Given the description of an element on the screen output the (x, y) to click on. 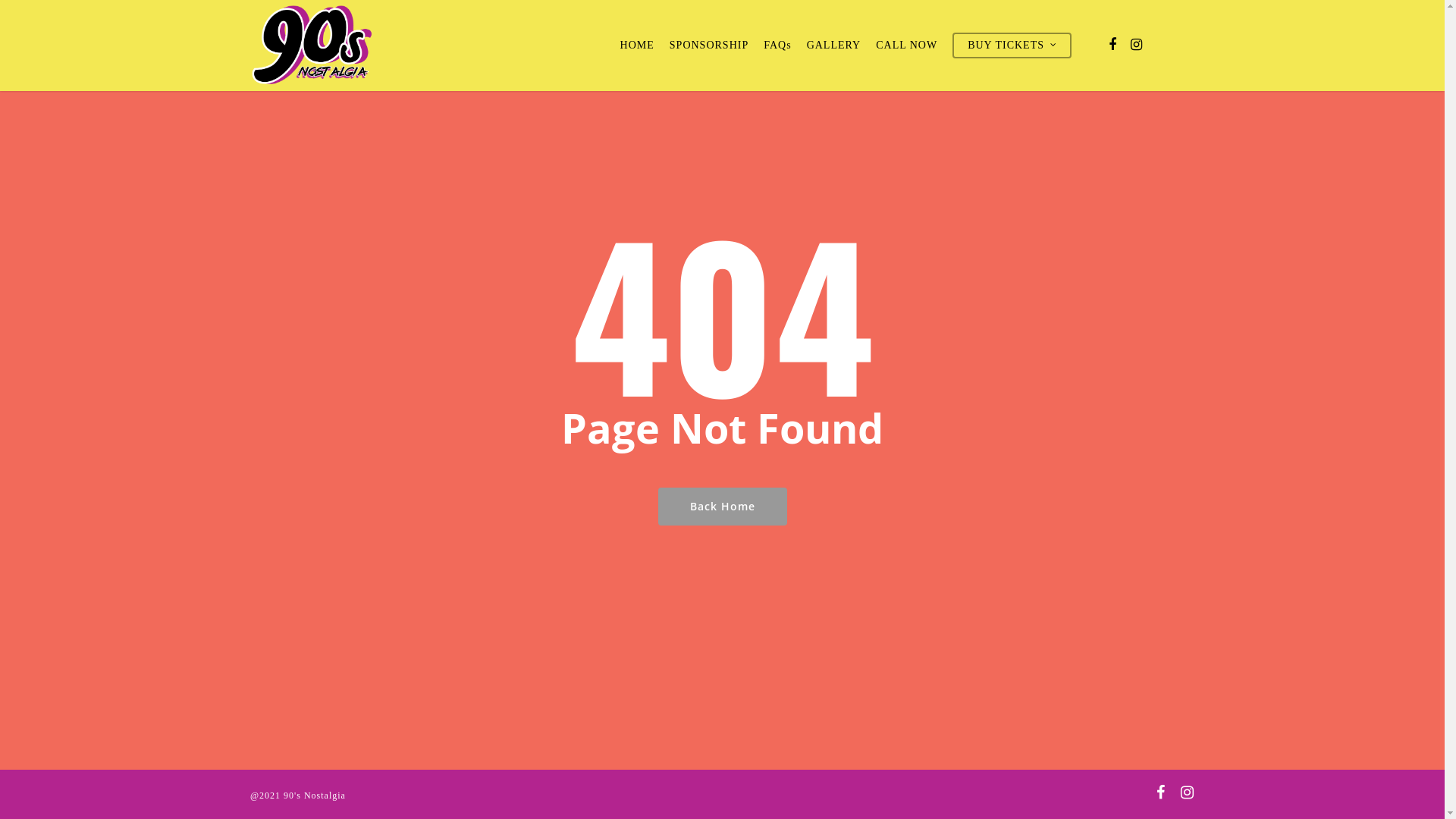
SPONSORSHIP Element type: text (708, 45)
Back Home Element type: text (722, 505)
HOME Element type: text (637, 45)
GALLERY Element type: text (833, 45)
FAQs Element type: text (776, 45)
CALL NOW Element type: text (906, 45)
BUY TICKETS Element type: text (1011, 45)
